Given the description of an element on the screen output the (x, y) to click on. 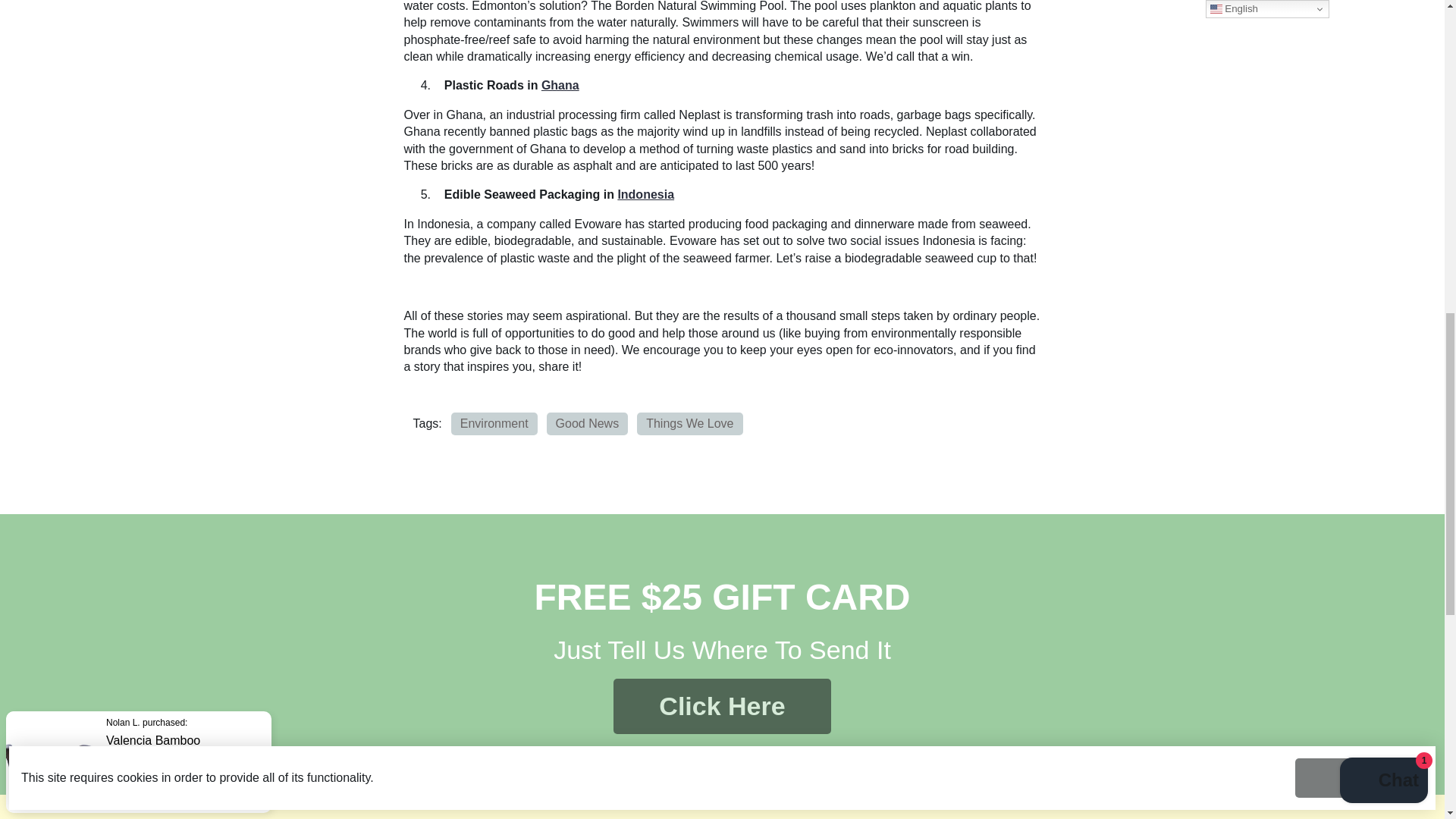
Indonesia (645, 194)
Click Here (720, 705)
edible dinnerware in indonesia (645, 194)
Ghana (560, 84)
ghana makes roads from plastic (560, 84)
Good News (587, 423)
Environment (494, 423)
Things We Love (689, 423)
